Given the description of an element on the screen output the (x, y) to click on. 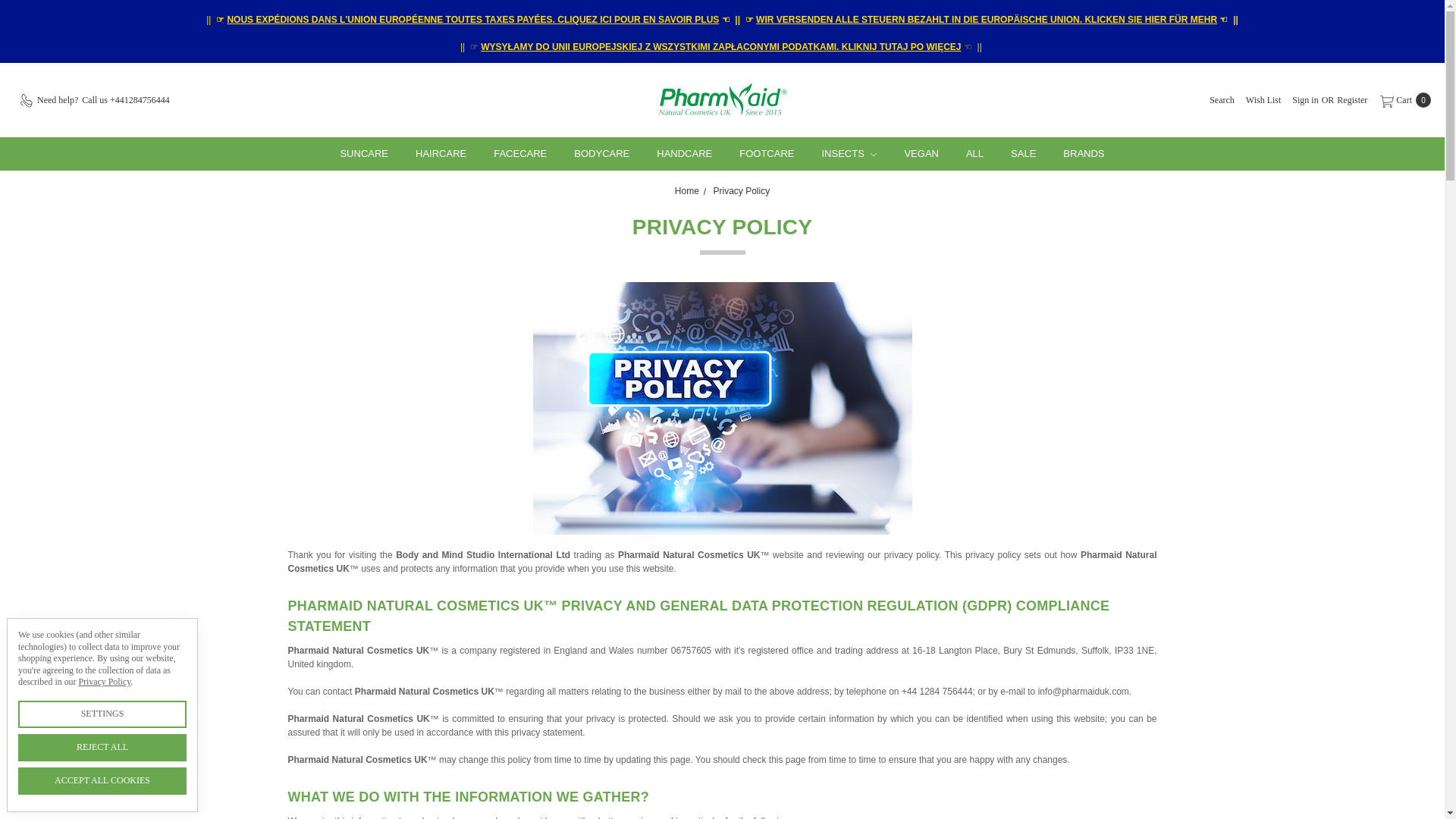
SALE (1023, 153)
ALL (974, 153)
Home (686, 190)
BRANDS (1083, 153)
Pharmaid Natural Greek Cosmetics (722, 99)
HANDCARE (684, 153)
BODYCARE (601, 153)
Sign in (1304, 100)
HAIRCARE (440, 153)
Wish List (1263, 100)
VEGAN (920, 153)
SUNCARE (363, 153)
Privacy Policy (741, 190)
Search (1222, 100)
INSECTS (848, 153)
